Given the description of an element on the screen output the (x, y) to click on. 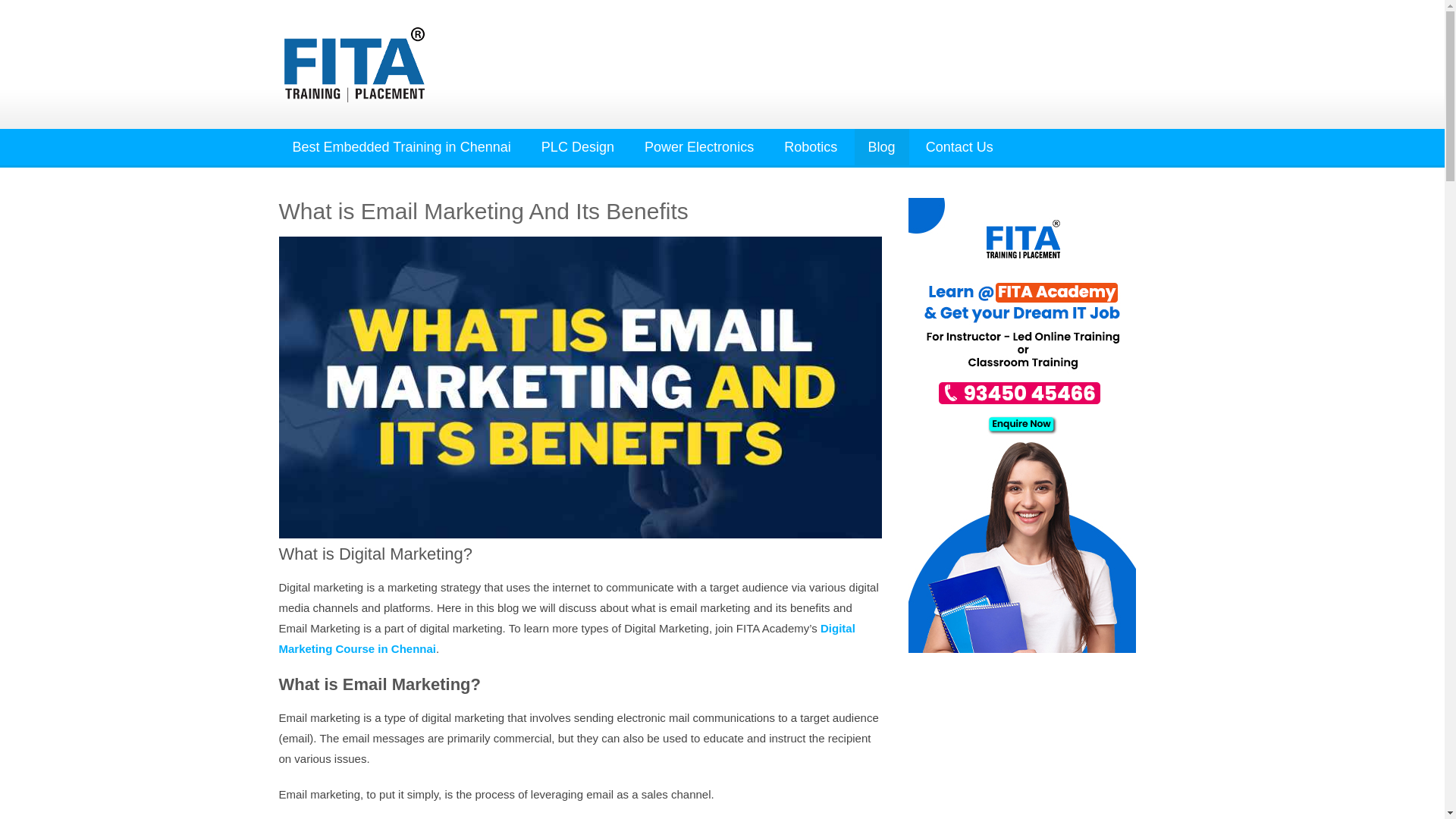
PLC Design (577, 146)
Best Embedded Training in Chennai (401, 146)
Power Electronics (698, 146)
Robotics (810, 146)
Contact Us (959, 146)
Digital Marketing Course in Chennai (567, 638)
Blog (881, 146)
